Given the description of an element on the screen output the (x, y) to click on. 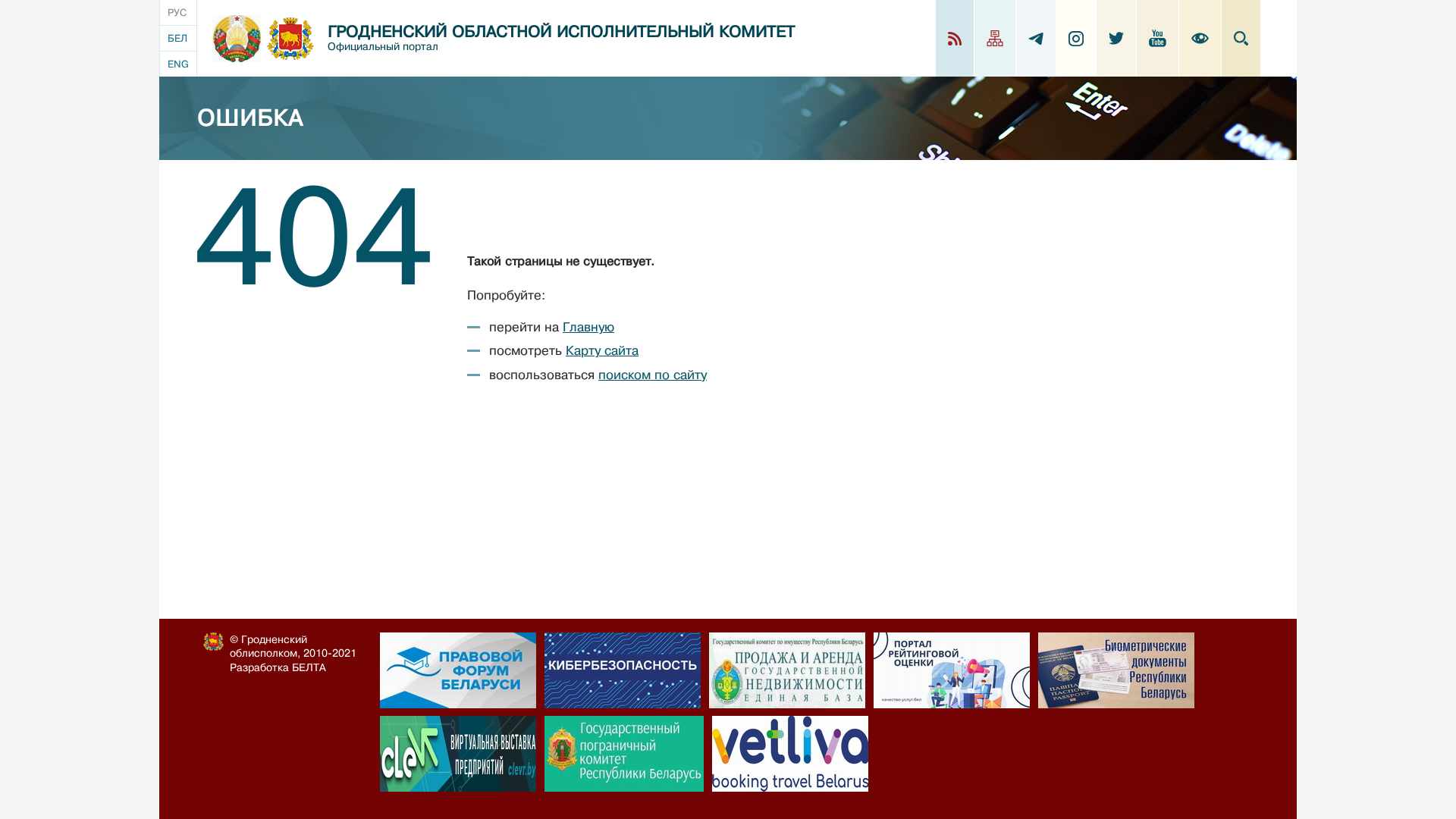
rss Element type: hover (954, 38)
telegram Element type: hover (1036, 38)
ENG Element type: text (178, 63)
rss Element type: hover (954, 38)
123 Element type: hover (787, 670)
instagram Element type: hover (1076, 38)
Youtube Element type: hover (1157, 38)
vetliva.by Element type: hover (790, 753)
twitter Element type: hover (1115, 37)
instagram Element type: hover (1075, 38)
134 Element type: hover (622, 670)
222 Element type: hover (1116, 670)
345 Element type: hover (951, 670)
telegram Element type: hover (1035, 38)
twitter Element type: hover (1116, 38)
Youtube Element type: hover (1157, 38)
